Given the description of an element on the screen output the (x, y) to click on. 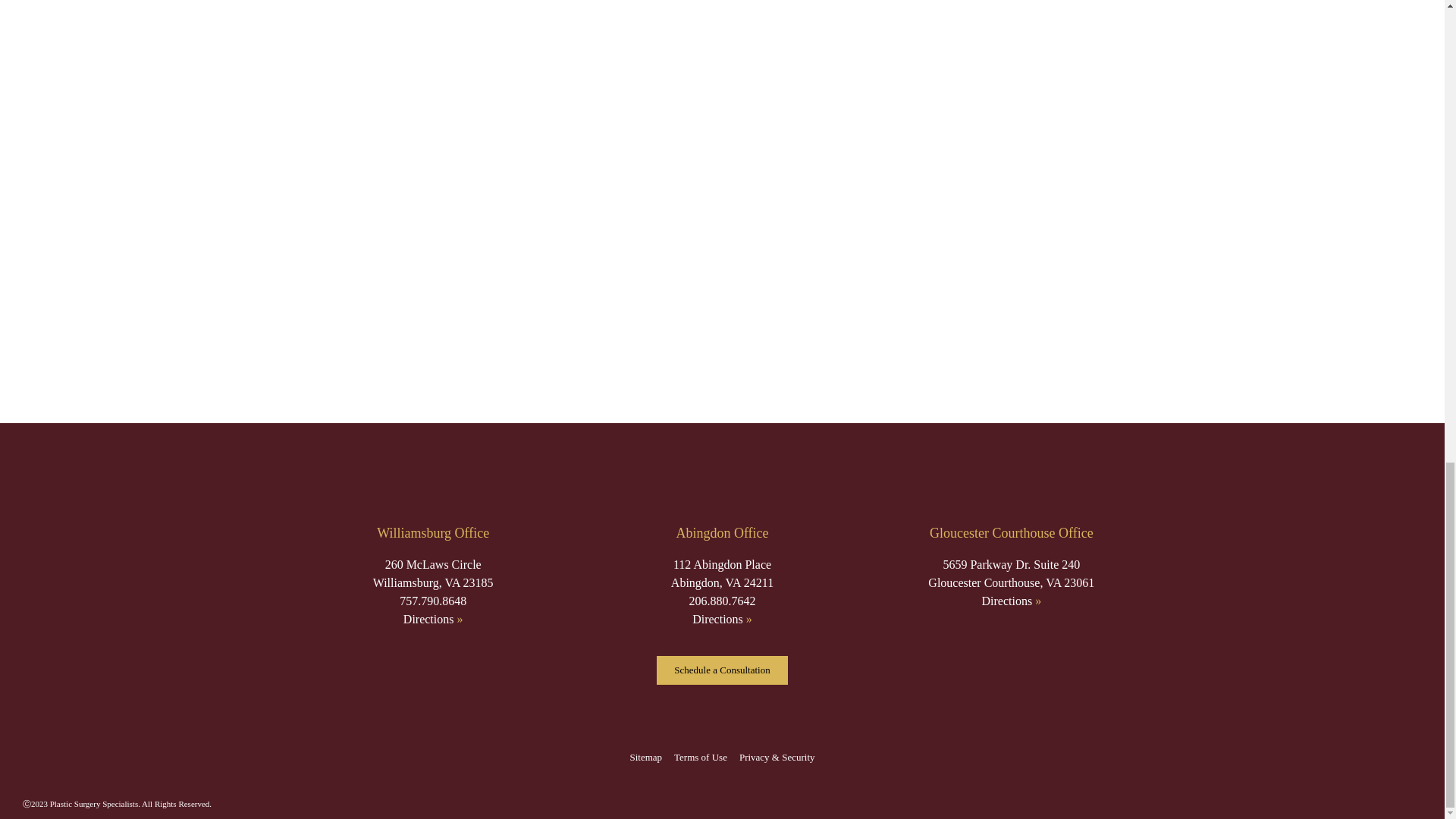
pss-horizontal-logo-white (721, 478)
care-credit-white-optimized (722, 731)
